Given the description of an element on the screen output the (x, y) to click on. 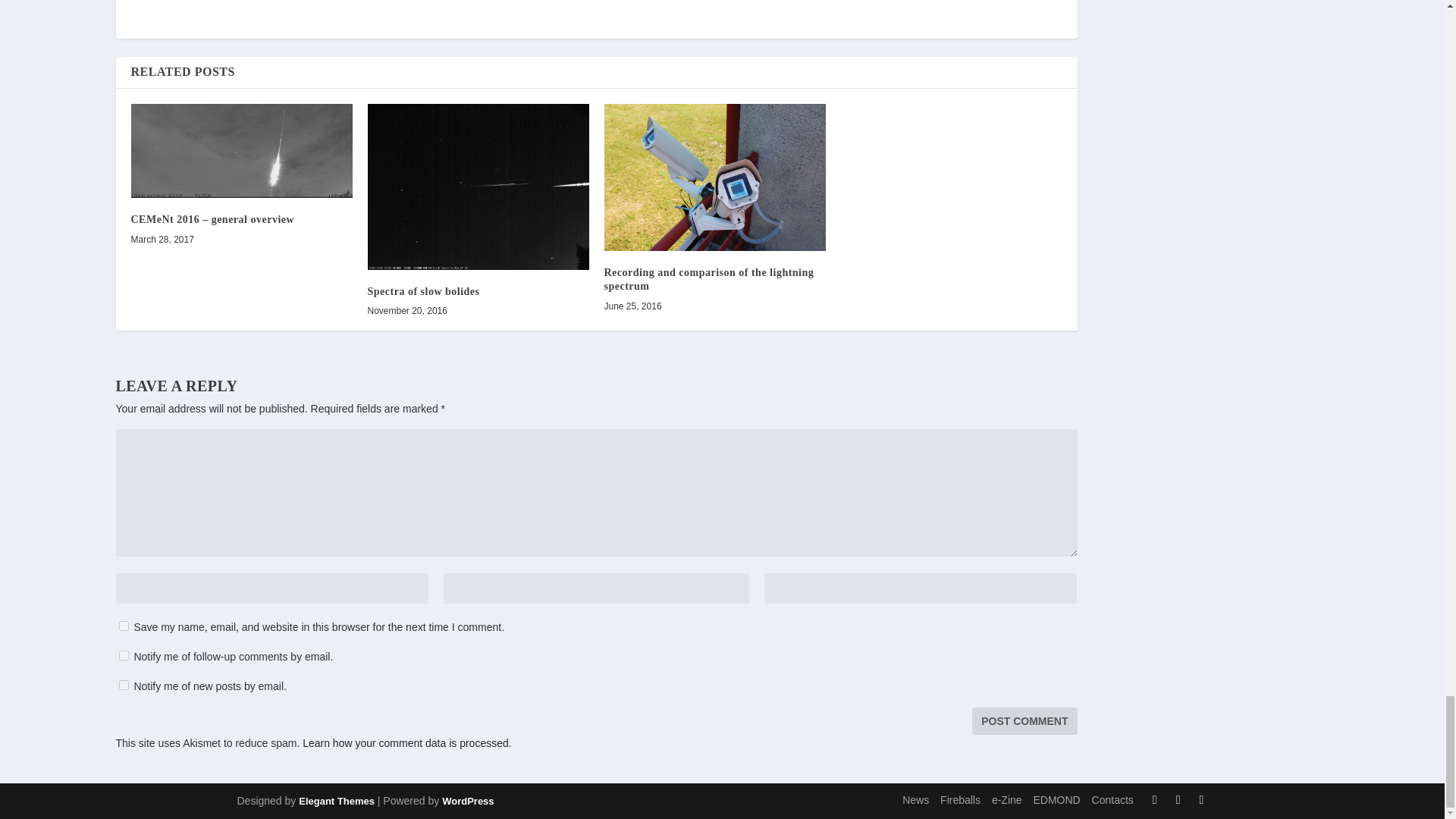
yes (122, 625)
subscribe (122, 685)
Spectra of slow bolides (477, 187)
subscribe (122, 655)
Post Comment (1024, 720)
